Given the description of an element on the screen output the (x, y) to click on. 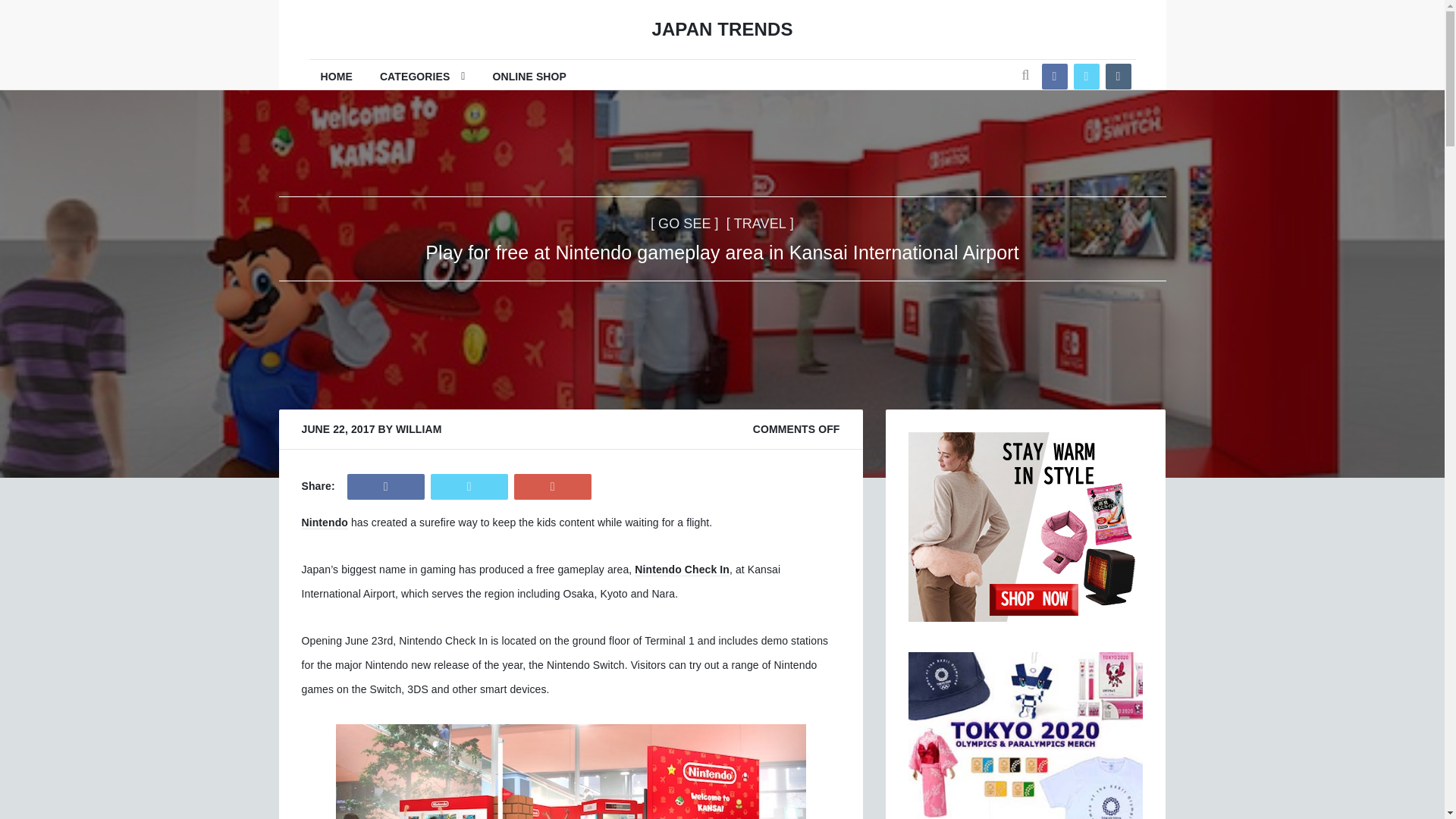
Share to Facebook (386, 486)
GO SEE (684, 223)
Tweet to Twitter (469, 486)
HOME (336, 76)
CATEGORIES (422, 76)
Nintendo (324, 522)
ONLINE SHOP (529, 76)
TRAVEL (759, 223)
JAPAN TRENDS (721, 29)
Japan Trends Online Shop (529, 76)
